Given the description of an element on the screen output the (x, y) to click on. 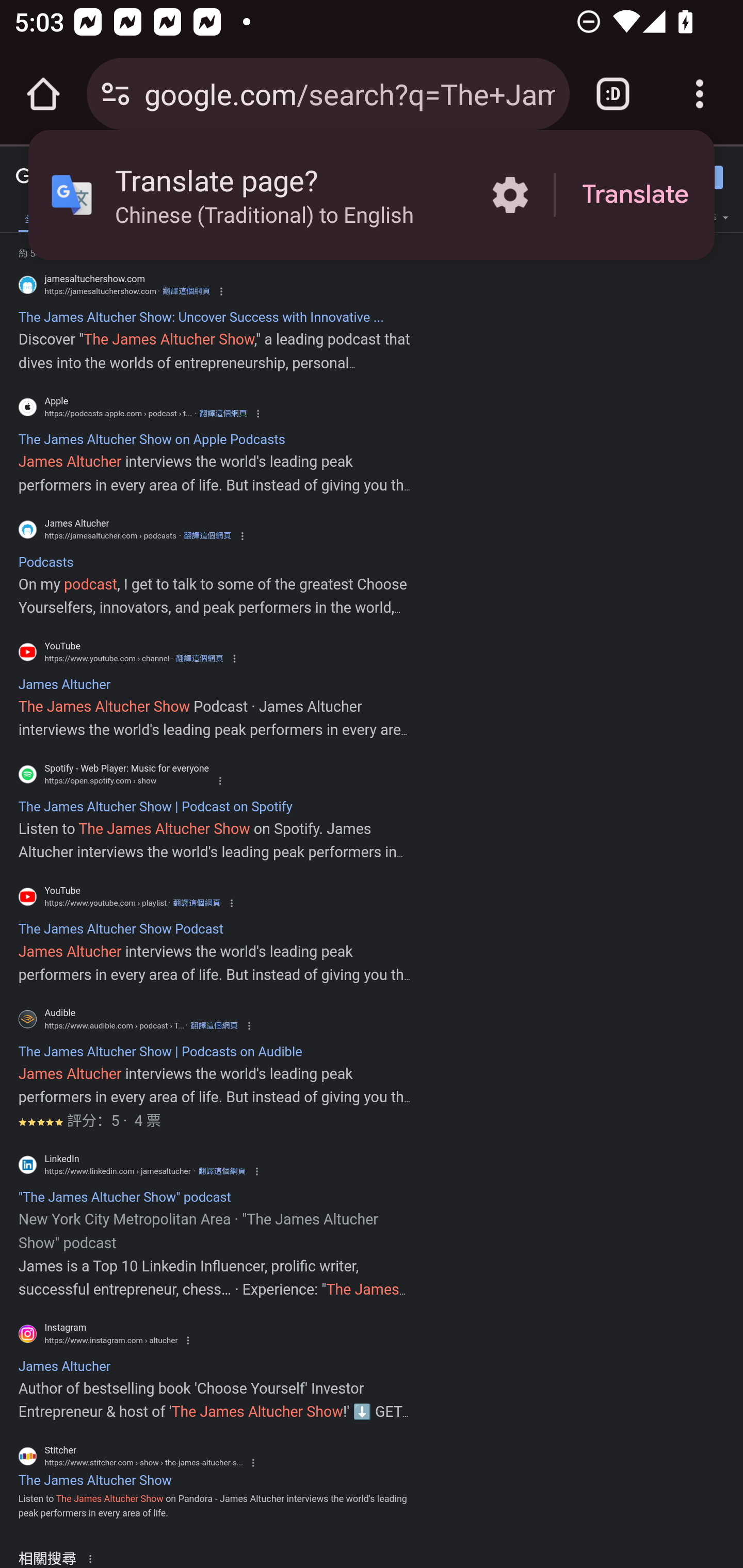
Open the home page (43, 93)
Connection is secure (115, 93)
Switch or close tabs (612, 93)
Customize and control Google Chrome (699, 93)
Translate (634, 195)
More options in the Translate page? (509, 195)
翻譯這個網頁 (185, 291)
翻譯這個網頁 (223, 413)
翻譯這個網頁 (207, 535)
翻譯這個網頁 (199, 658)
翻譯這個網頁 (196, 902)
翻譯這個網頁 (213, 1025)
翻譯這個網頁 (221, 1171)
關於此結果 (93, 1557)
